Given the description of an element on the screen output the (x, y) to click on. 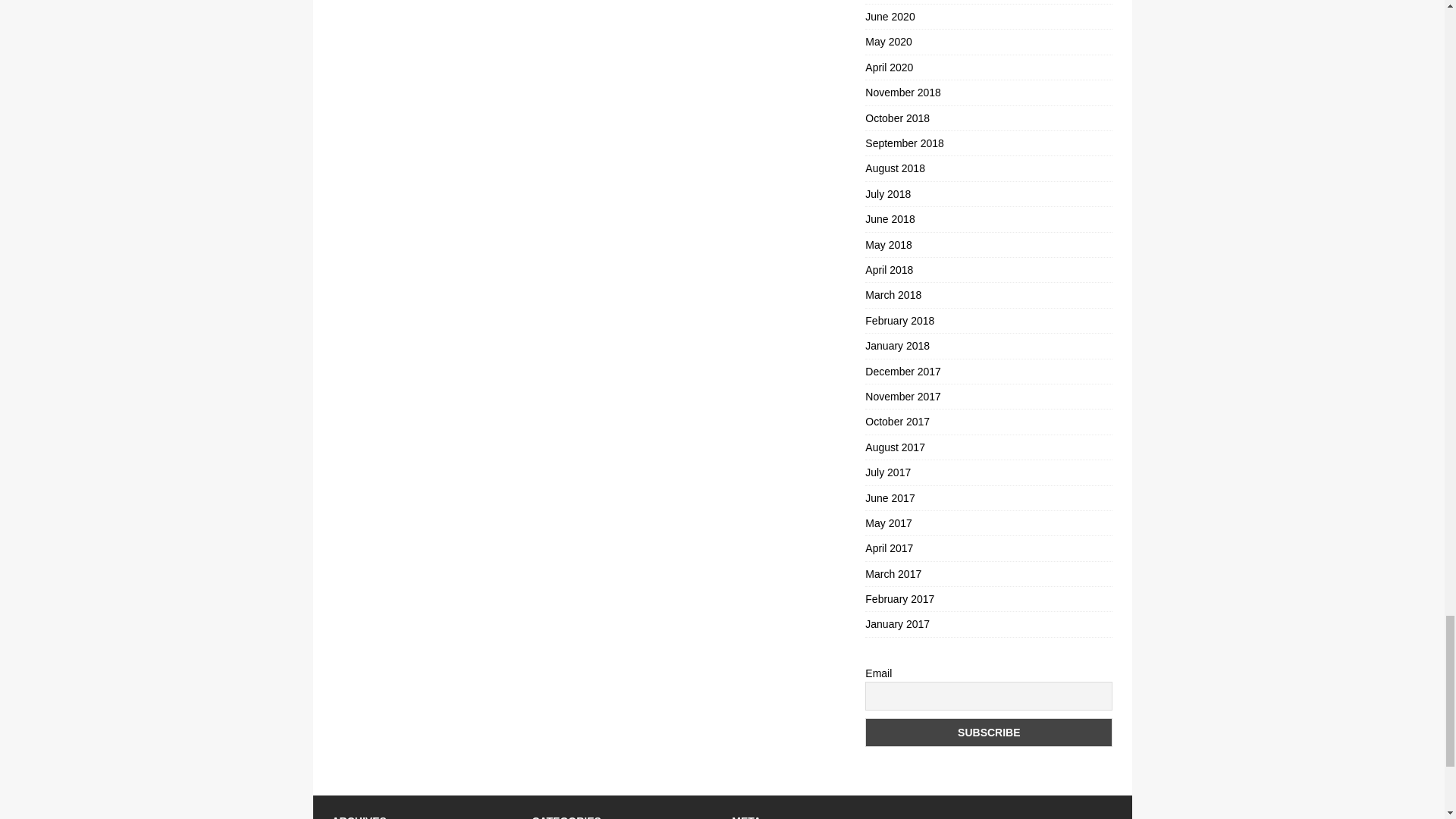
Subscribe (988, 732)
